Given the description of an element on the screen output the (x, y) to click on. 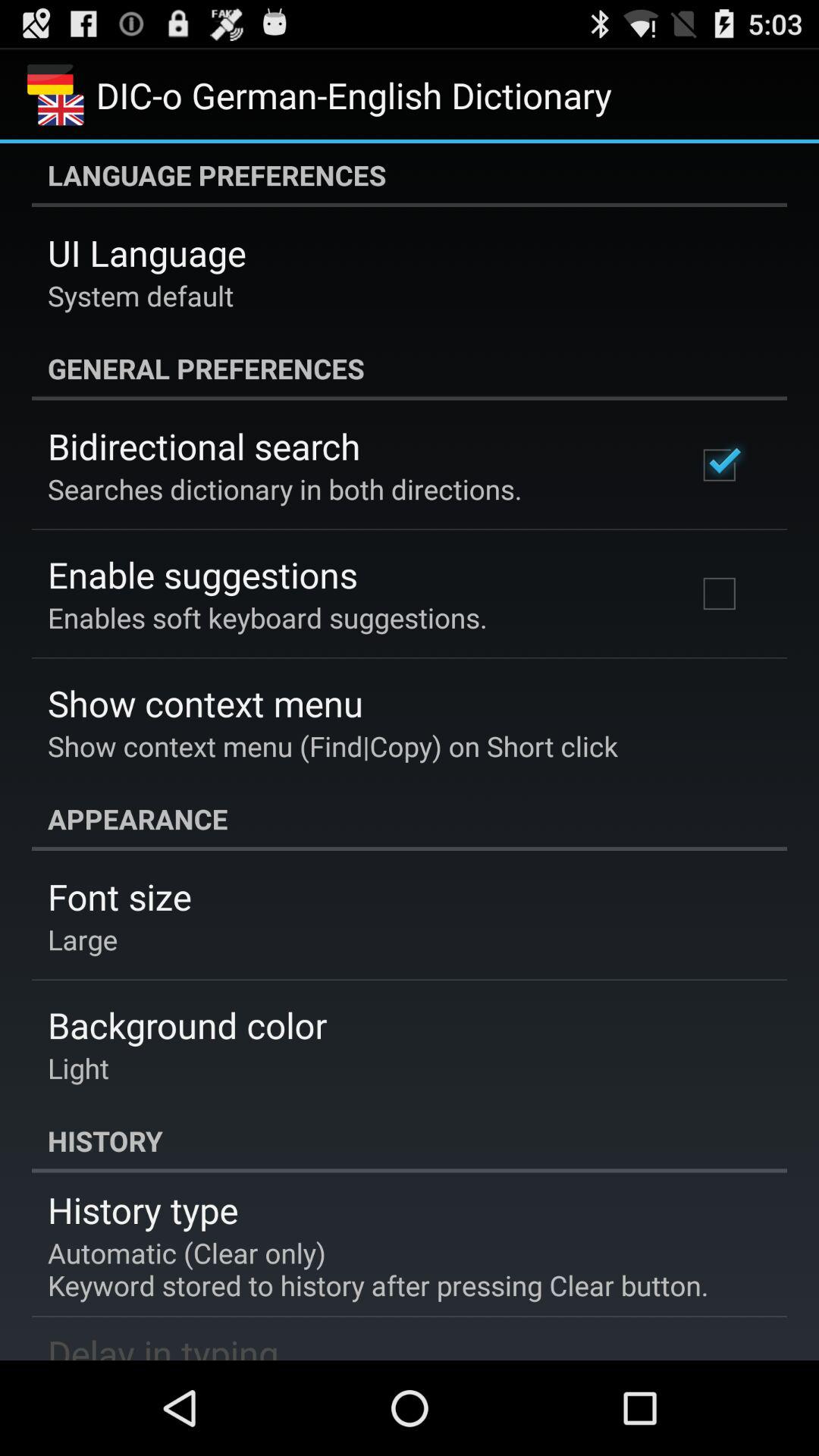
select the app above the font size app (409, 818)
